Given the description of an element on the screen output the (x, y) to click on. 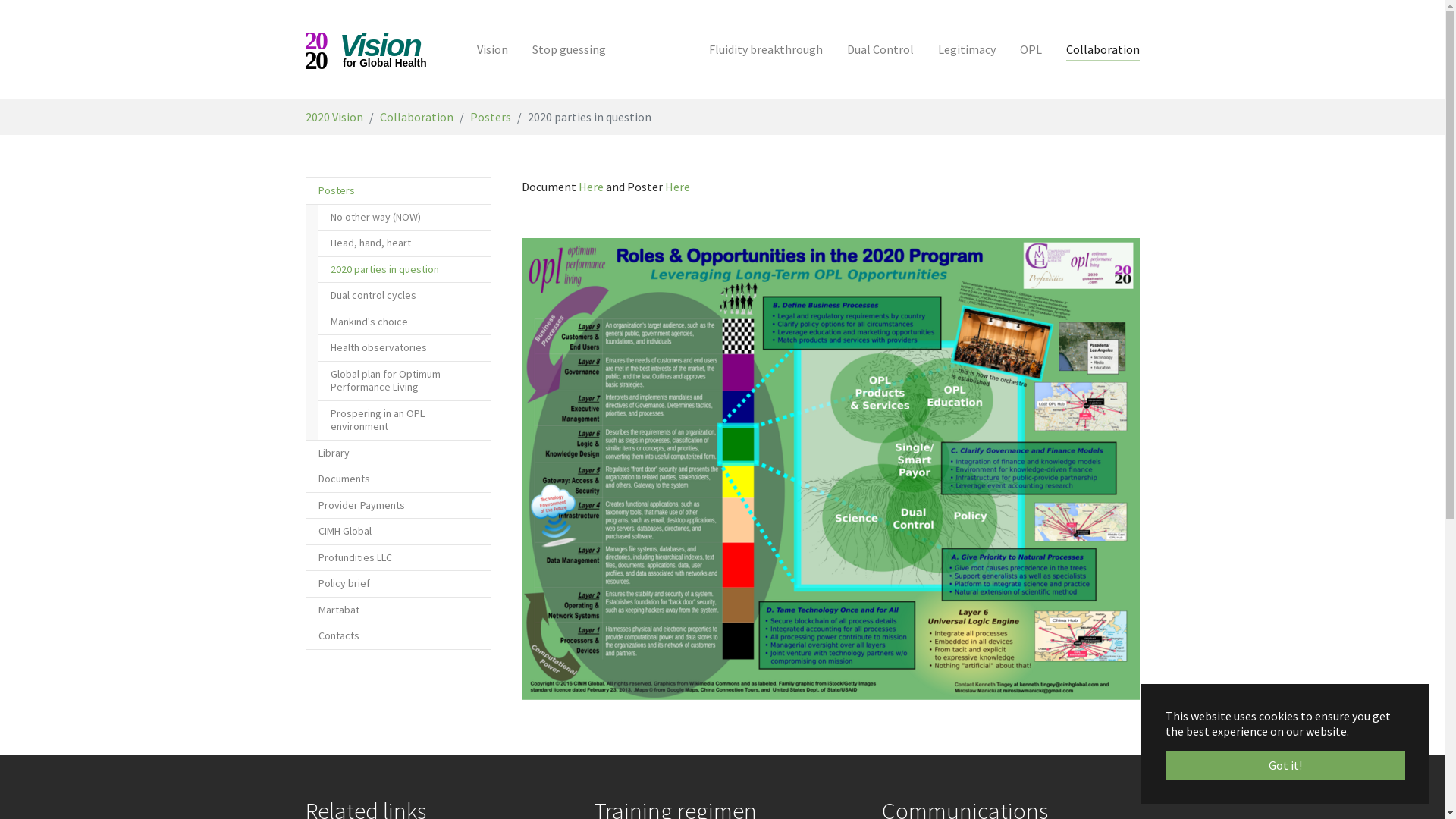
Policy brief Element type: text (397, 583)
Collaboration Element type: text (415, 116)
Legitimacy Element type: text (966, 49)
Posters Element type: text (490, 116)
2020 parties in question
(current) Element type: text (403, 269)
Mankind's choice Element type: text (403, 321)
Global plan for Optimum Performance Living Element type: text (403, 380)
Here Element type: text (676, 186)
Library Element type: text (397, 453)
No other way (NOW) Element type: text (403, 216)
Contacts Element type: text (397, 635)
CIMH Global Element type: text (397, 531)
Posters Element type: text (397, 190)
Dual Control Element type: text (879, 49)
Health observatories Element type: text (403, 347)
Profundities LLC Element type: text (397, 557)
Martabat Element type: text (397, 609)
Dual control cycles Element type: text (403, 295)
2020 Vision Element type: text (333, 116)
Collaboration Element type: text (1102, 49)
Stop guessing Element type: text (569, 49)
Fluidity breakthrough Element type: text (765, 49)
Head, hand, heart Element type: text (403, 243)
Provider Payments Element type: text (397, 504)
Documents Element type: text (397, 478)
Prospering in an OPL environment Element type: text (403, 420)
Vision Element type: text (492, 49)
OPL Element type: text (1030, 49)
Got it! Element type: text (1285, 764)
Here Element type: text (589, 186)
